Given the description of an element on the screen output the (x, y) to click on. 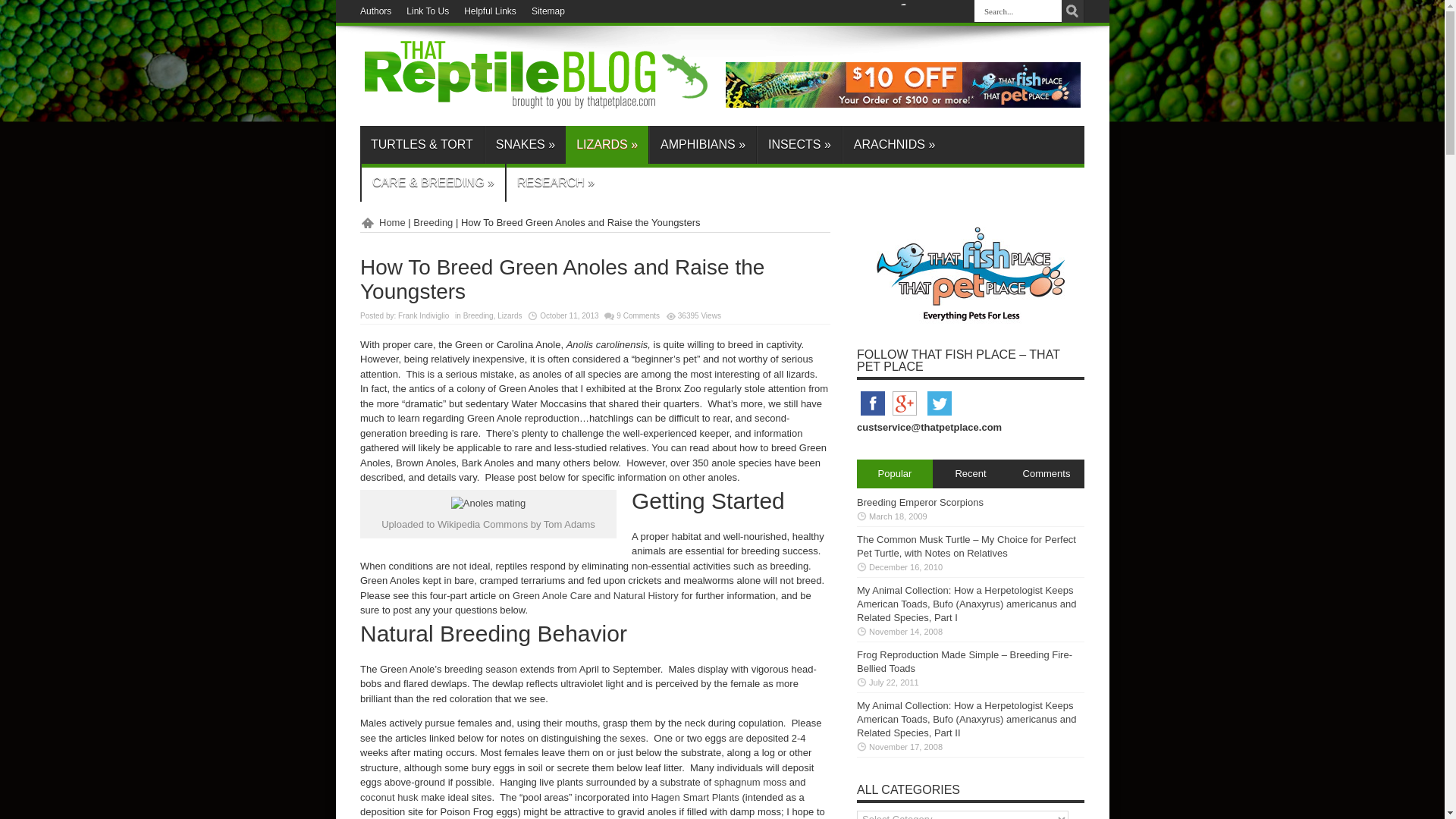
Search (1072, 11)
Sitemap (547, 11)
Link To Us (427, 11)
Facebook (872, 415)
Helpful Links (490, 11)
That Reptile Blog (536, 103)
Search (1072, 11)
Authors (375, 11)
Search (1072, 11)
